Given the description of an element on the screen output the (x, y) to click on. 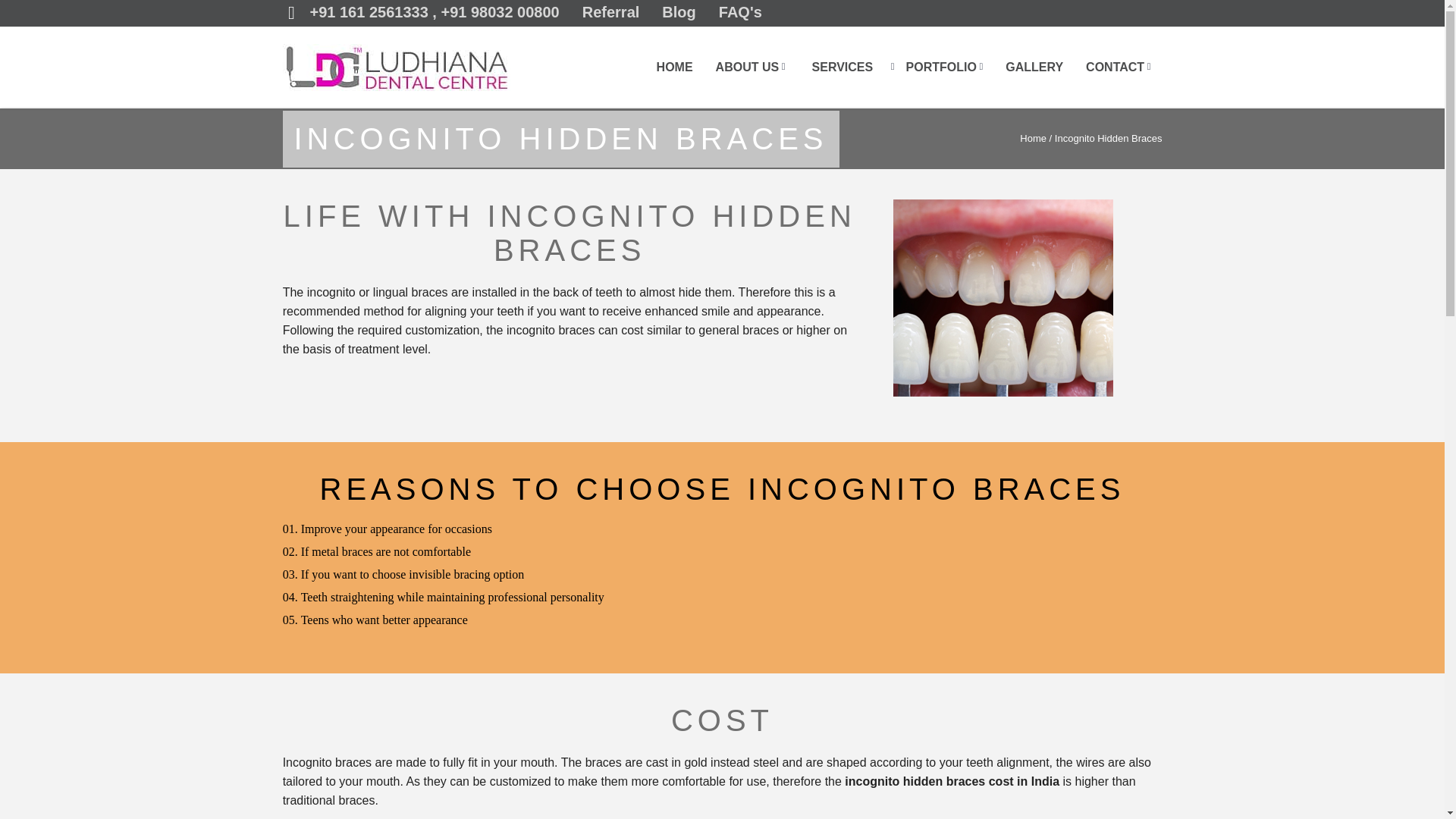
SERVICES (842, 66)
PORTFOLIO (940, 66)
FAQ's (740, 12)
Blog (678, 12)
Referral (611, 12)
ABOUT US (747, 66)
HOME (674, 66)
